Given the description of an element on the screen output the (x, y) to click on. 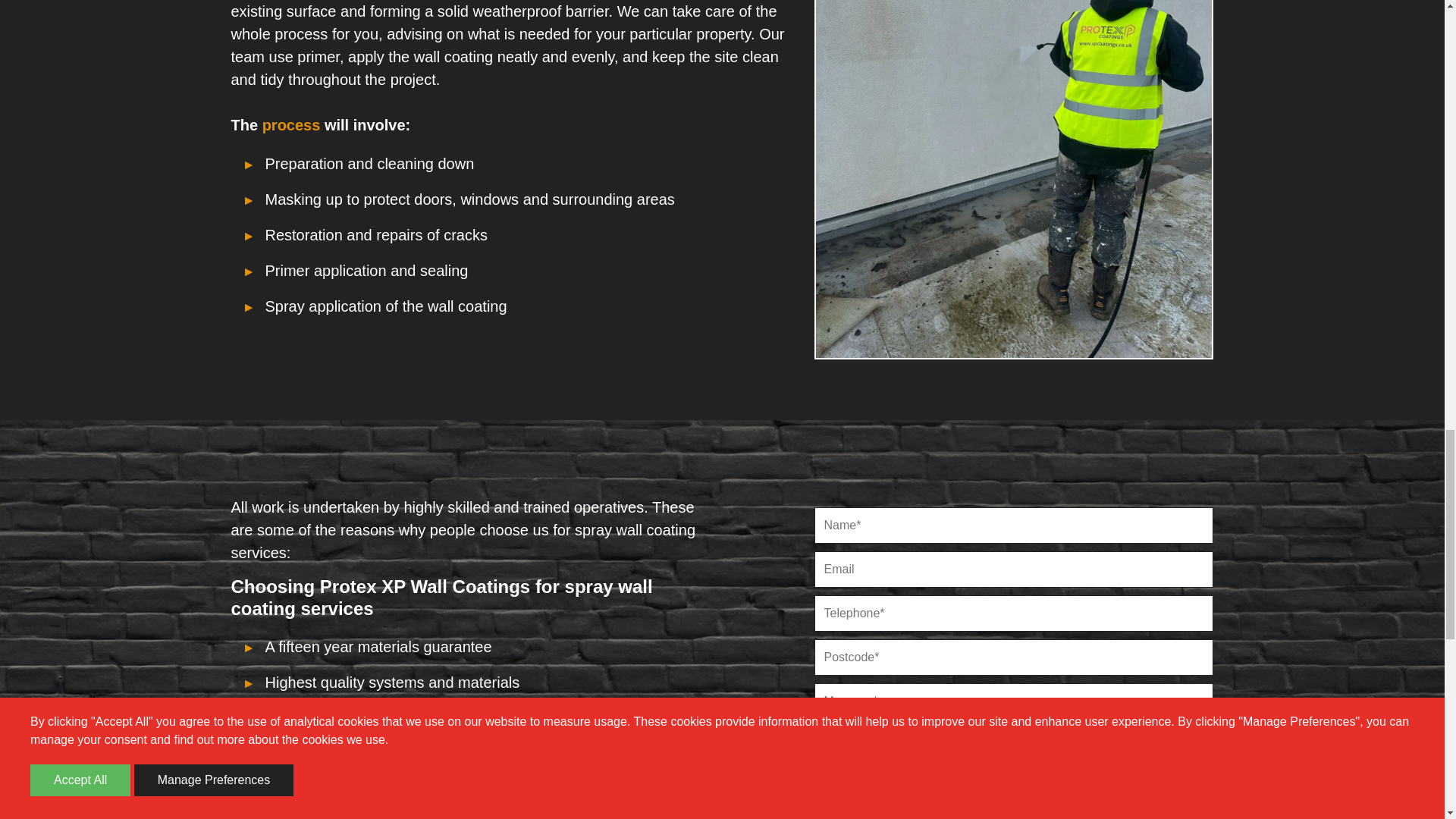
process (291, 125)
